Given the description of an element on the screen output the (x, y) to click on. 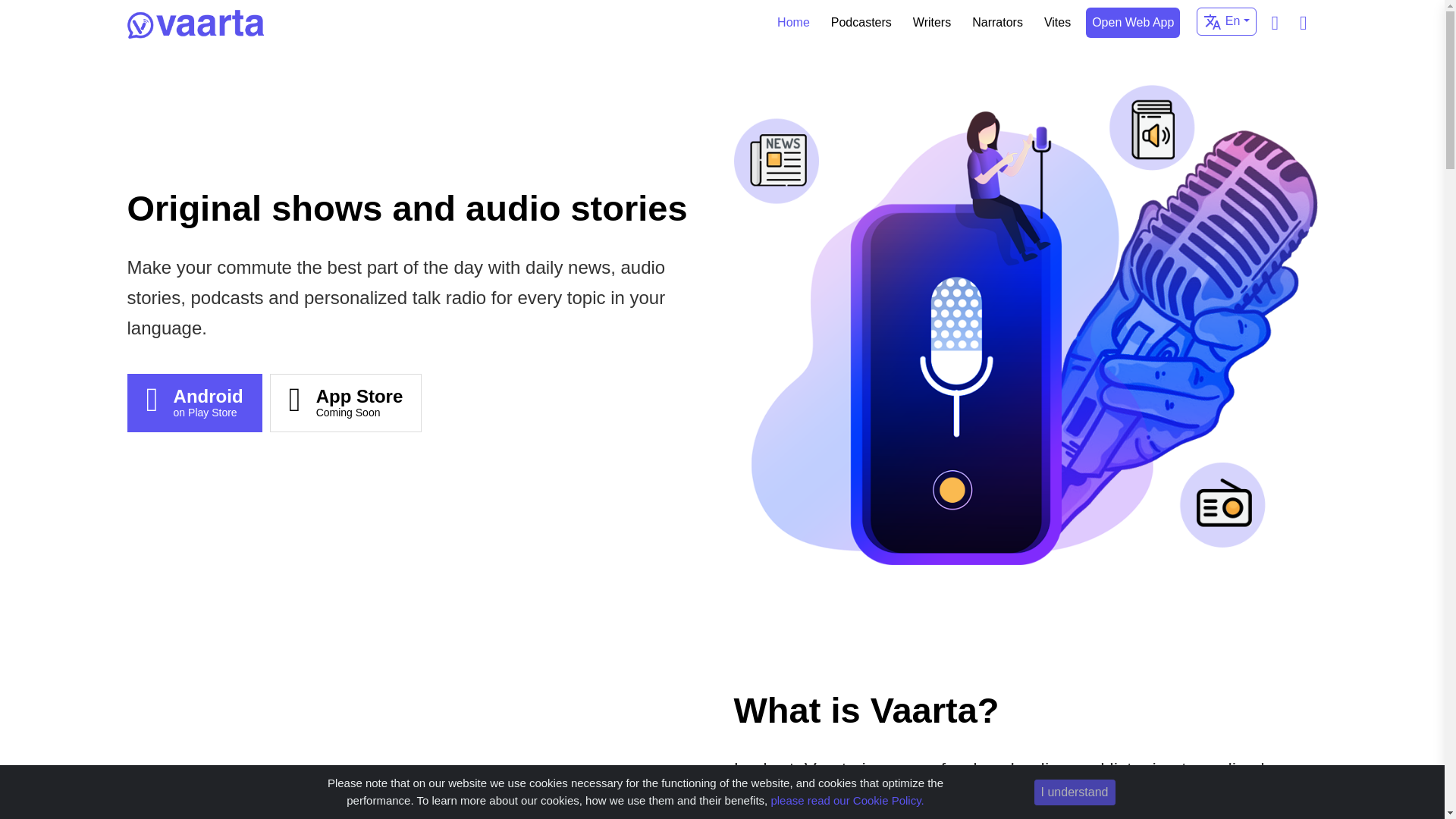
Podcaster (861, 22)
Coming Soon on iOS App Store (359, 404)
Writers (931, 22)
Home (793, 22)
Vaarta (195, 23)
Open Web App (1132, 22)
Available on Play Store (208, 404)
Features (1132, 22)
Narrators (208, 404)
Podcasters (359, 404)
Vites (997, 22)
Narrators (861, 22)
Home (1057, 22)
